Given the description of an element on the screen output the (x, y) to click on. 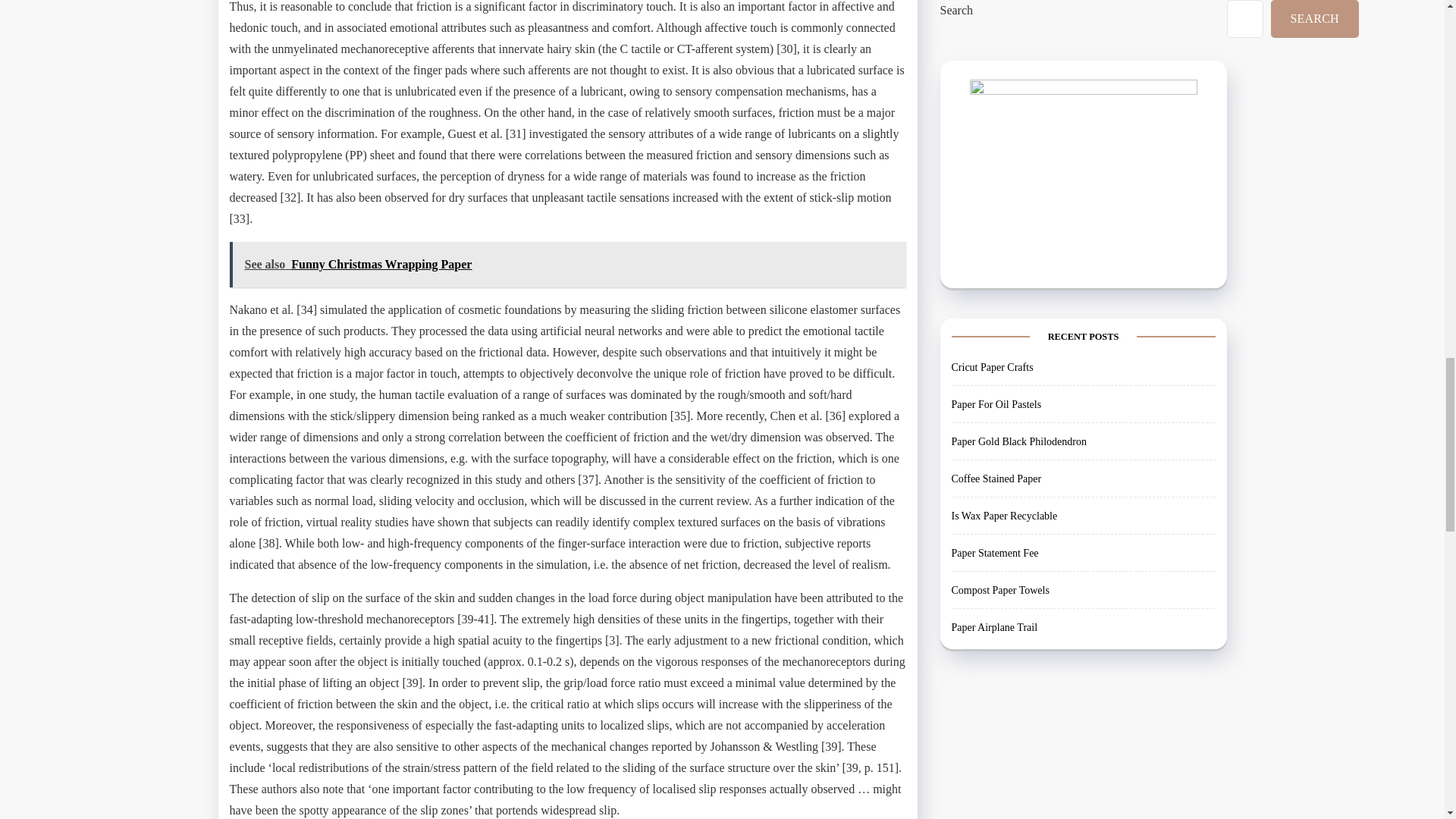
See also  Funny Christmas Wrapping Paper (566, 264)
